Given the description of an element on the screen output the (x, y) to click on. 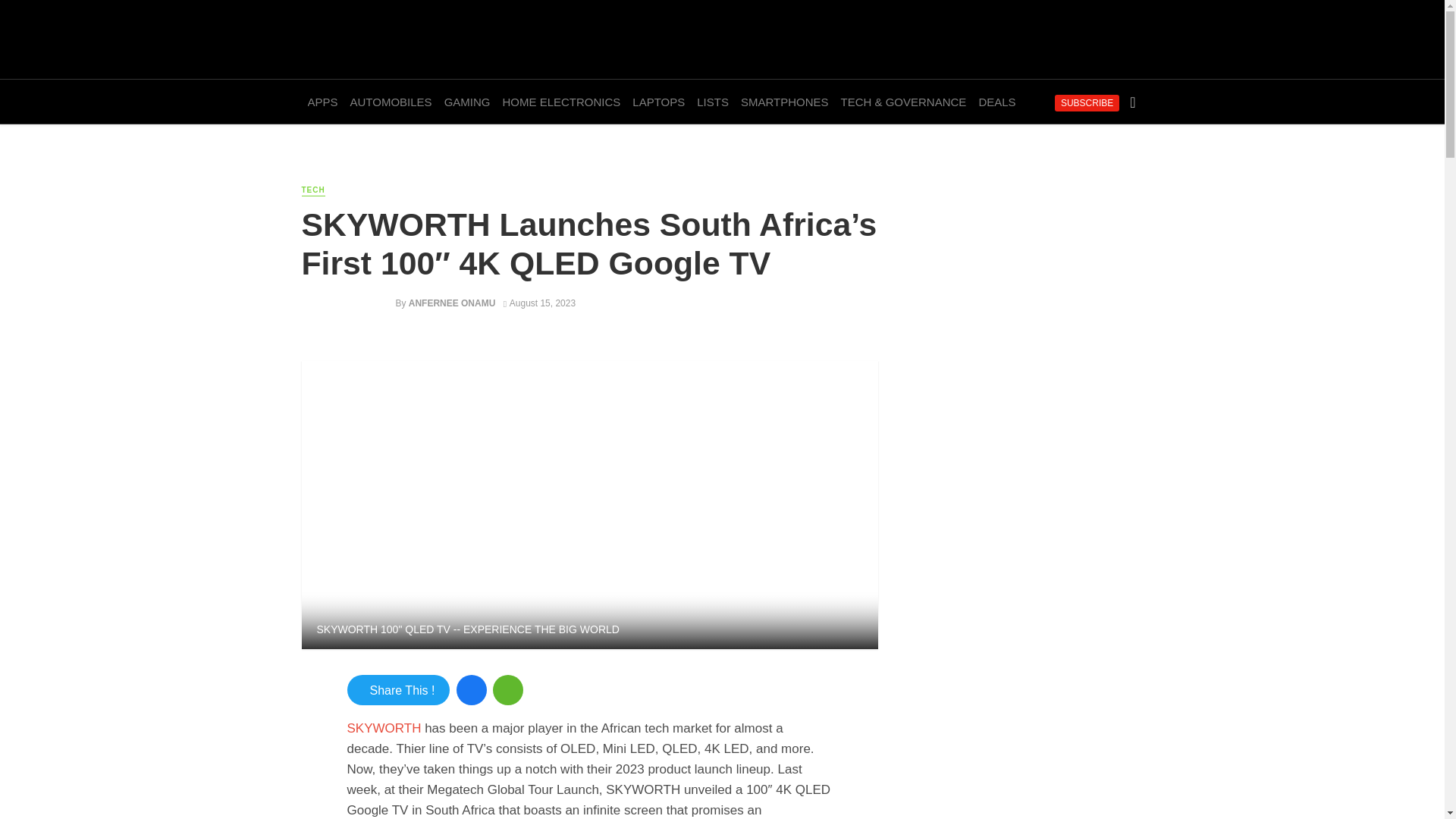
SKYWORTH (384, 727)
Tweet this ! (398, 689)
GAMING (467, 102)
Posts by Anfernee Onamu (452, 303)
Share This ! (398, 689)
Share this on Facebook (471, 689)
AUTOMOBILES (390, 102)
TECH (312, 190)
LAPTOPS (658, 102)
SMARTPHONES (784, 102)
LISTS (712, 102)
SUBSCRIBE (1086, 103)
HOME ELECTRONICS (561, 102)
August 15, 2023 at 11:58 am (539, 303)
WhatsApp (507, 689)
